Given the description of an element on the screen output the (x, y) to click on. 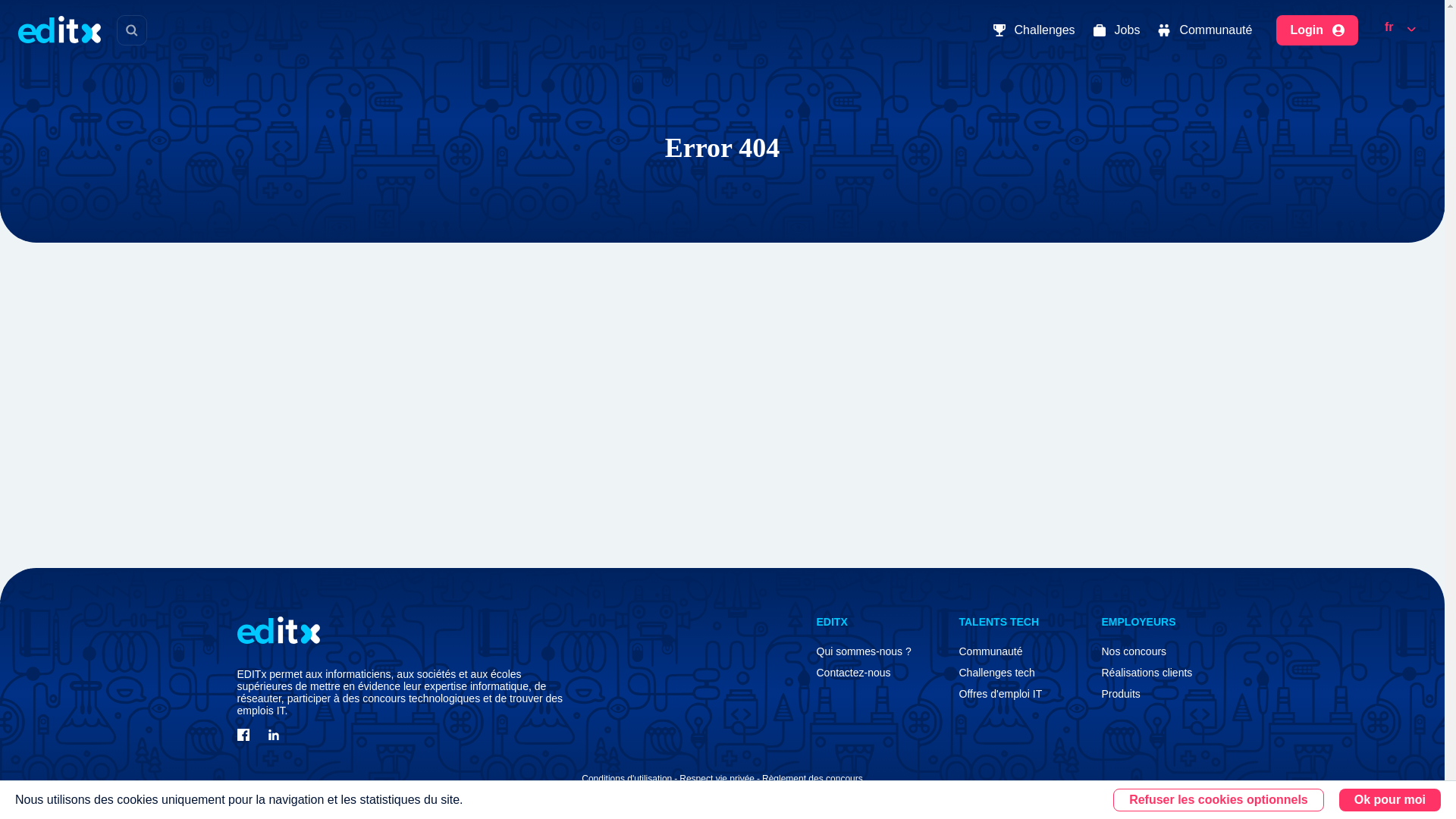
Offres d'emploi IT (1000, 693)
Jobs (1117, 30)
Contactez-nous (852, 672)
Challenges (1034, 30)
Qui sommes-nous ? (863, 651)
Refuser les cookies optionnels (1218, 799)
Nos concours (1133, 651)
Conditions d'utilisation (625, 777)
Ok pour moi (1390, 799)
fr (1399, 29)
